Given the description of an element on the screen output the (x, y) to click on. 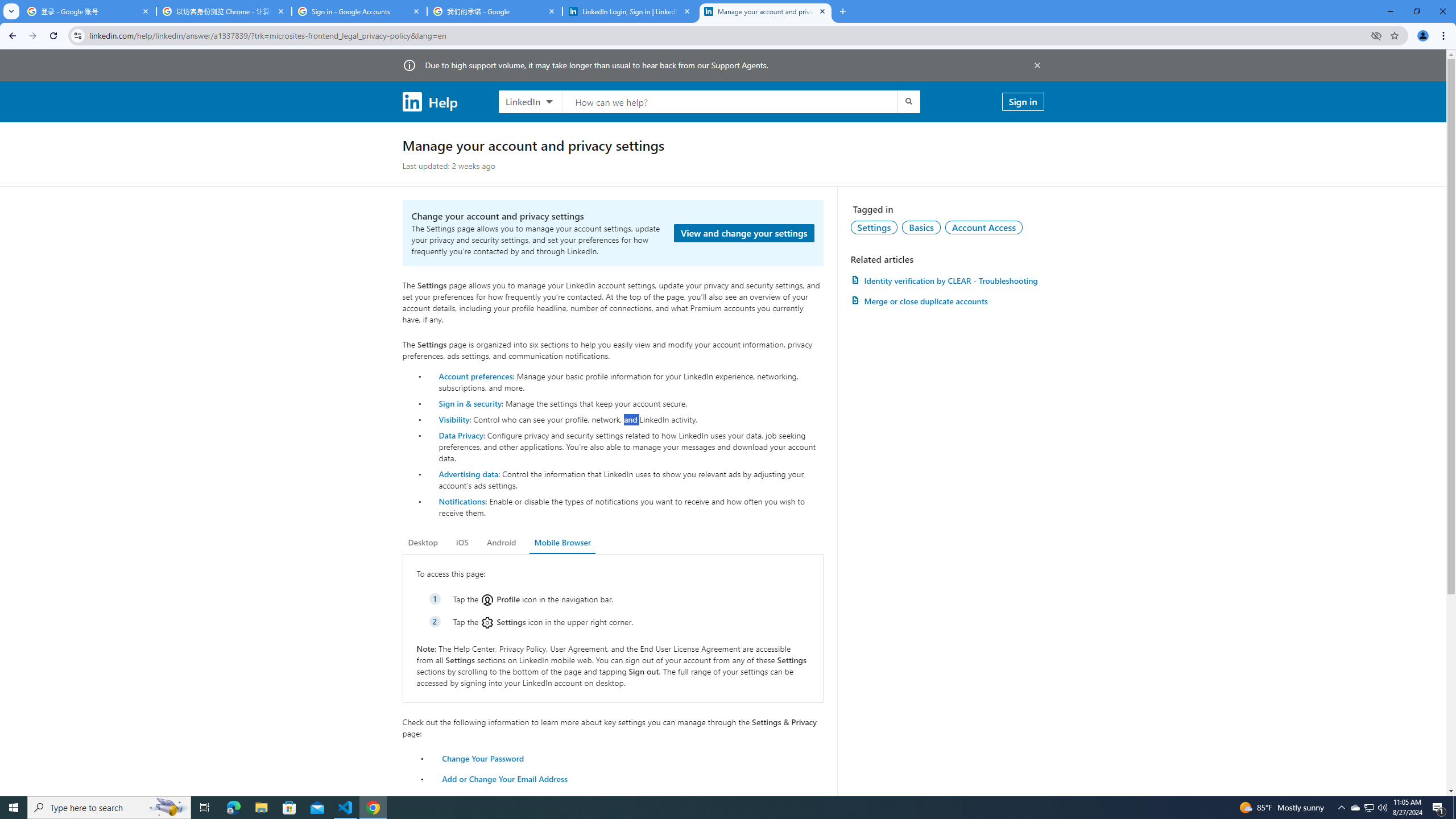
Sign in & security (470, 402)
Data Privacy (460, 434)
Add or Change Your Email Address (504, 778)
AutomationID: article-link-a1337200 (946, 300)
Visibility (454, 419)
LinkedIn Login, Sign in | LinkedIn (630, 11)
Account Access (983, 227)
